Given the description of an element on the screen output the (x, y) to click on. 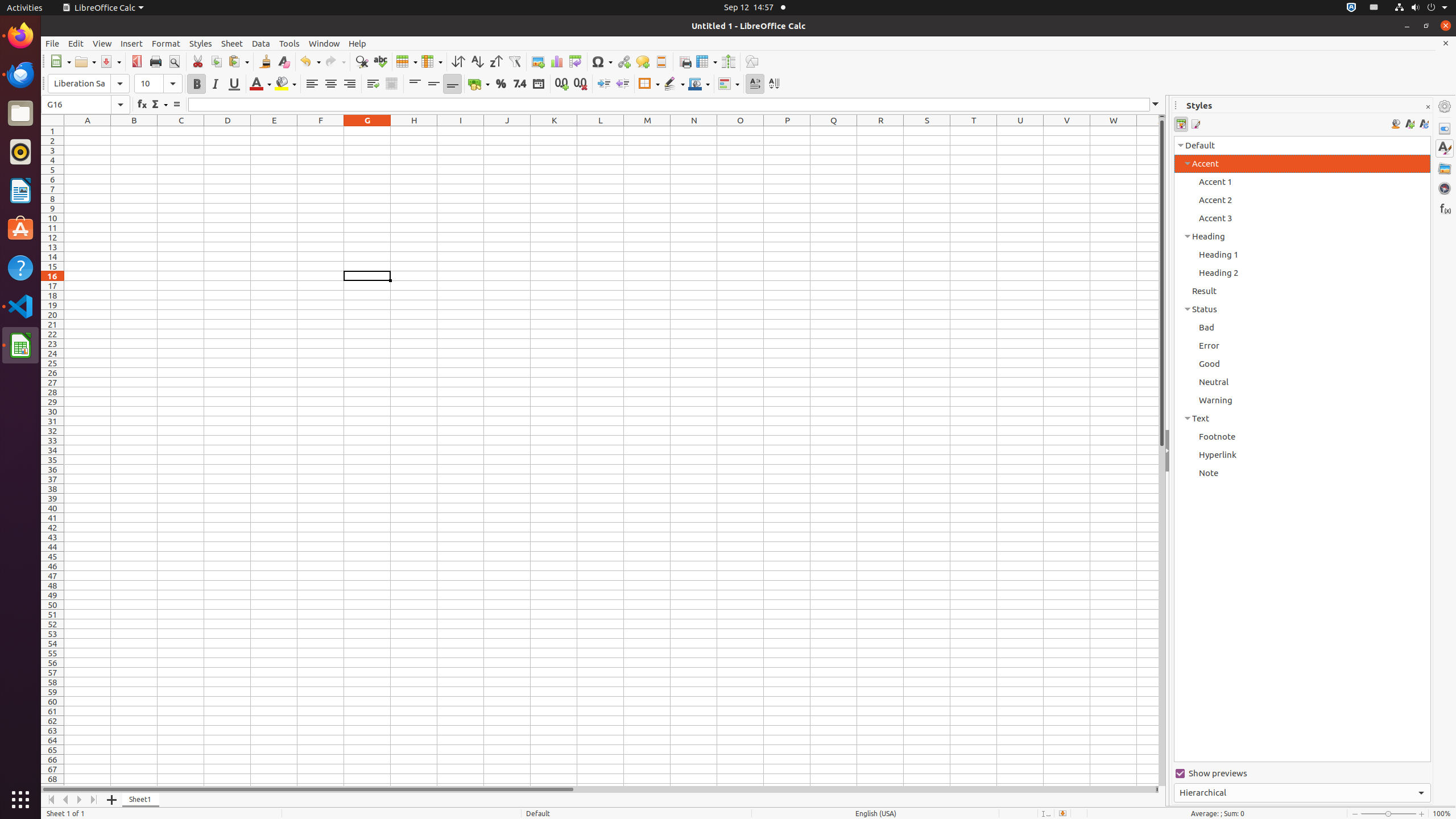
Print Element type: push-button (155, 61)
B1 Element type: table-cell (133, 130)
Symbol Element type: push-button (601, 61)
PDF Element type: push-button (136, 61)
M1 Element type: table-cell (646, 130)
